Given the description of an element on the screen output the (x, y) to click on. 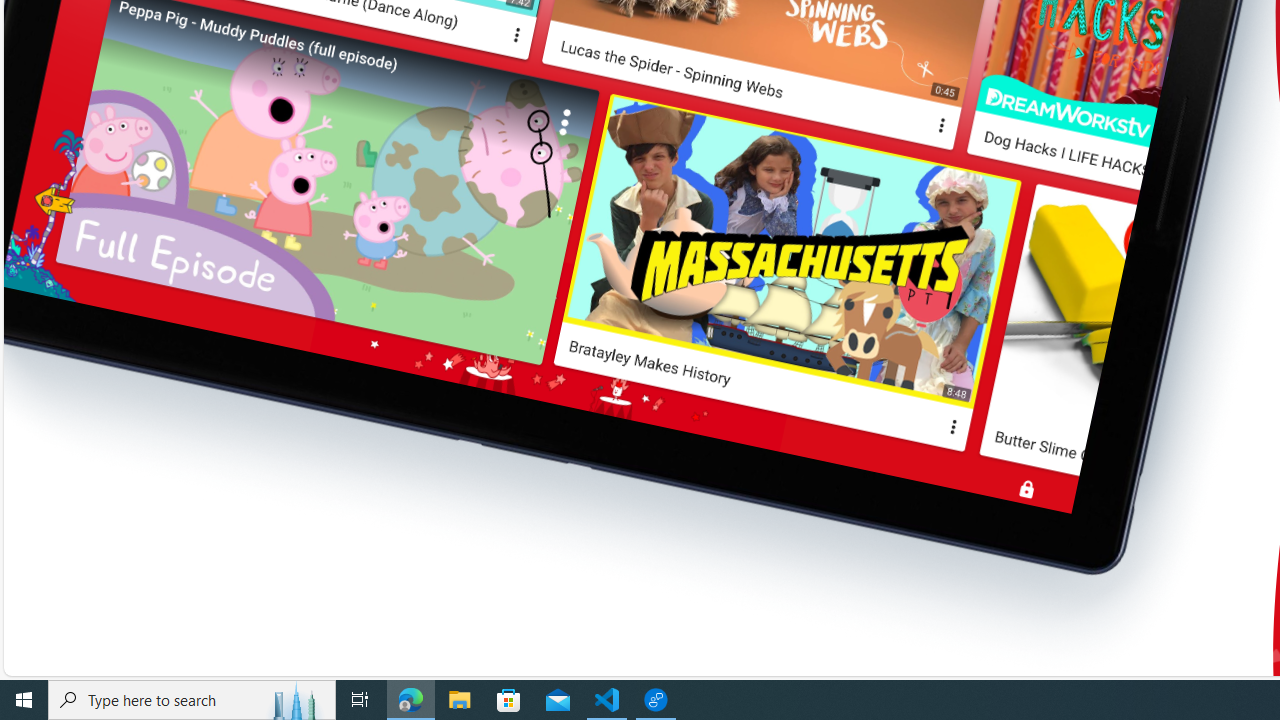
03Timer (873, 205)
04 Blocking (873, 248)
04Blocking (873, 248)
01Parent Approved + Collections (873, 122)
Download on the App Store (828, 40)
Class: ytk__arrow-link-icon ytk-desktop-up-only-inline (810, 43)
02 Content Level by Age (873, 164)
02Content Level by Age (873, 164)
Get it on Google Play (679, 40)
CONTINUE EXPLORING (715, 45)
01 Parent Approved + Collections (873, 122)
www.youtubekids.com (1020, 100)
Download on the App Store (828, 40)
Get it on Google Play (679, 40)
03 Timer (873, 205)
